Given the description of an element on the screen output the (x, y) to click on. 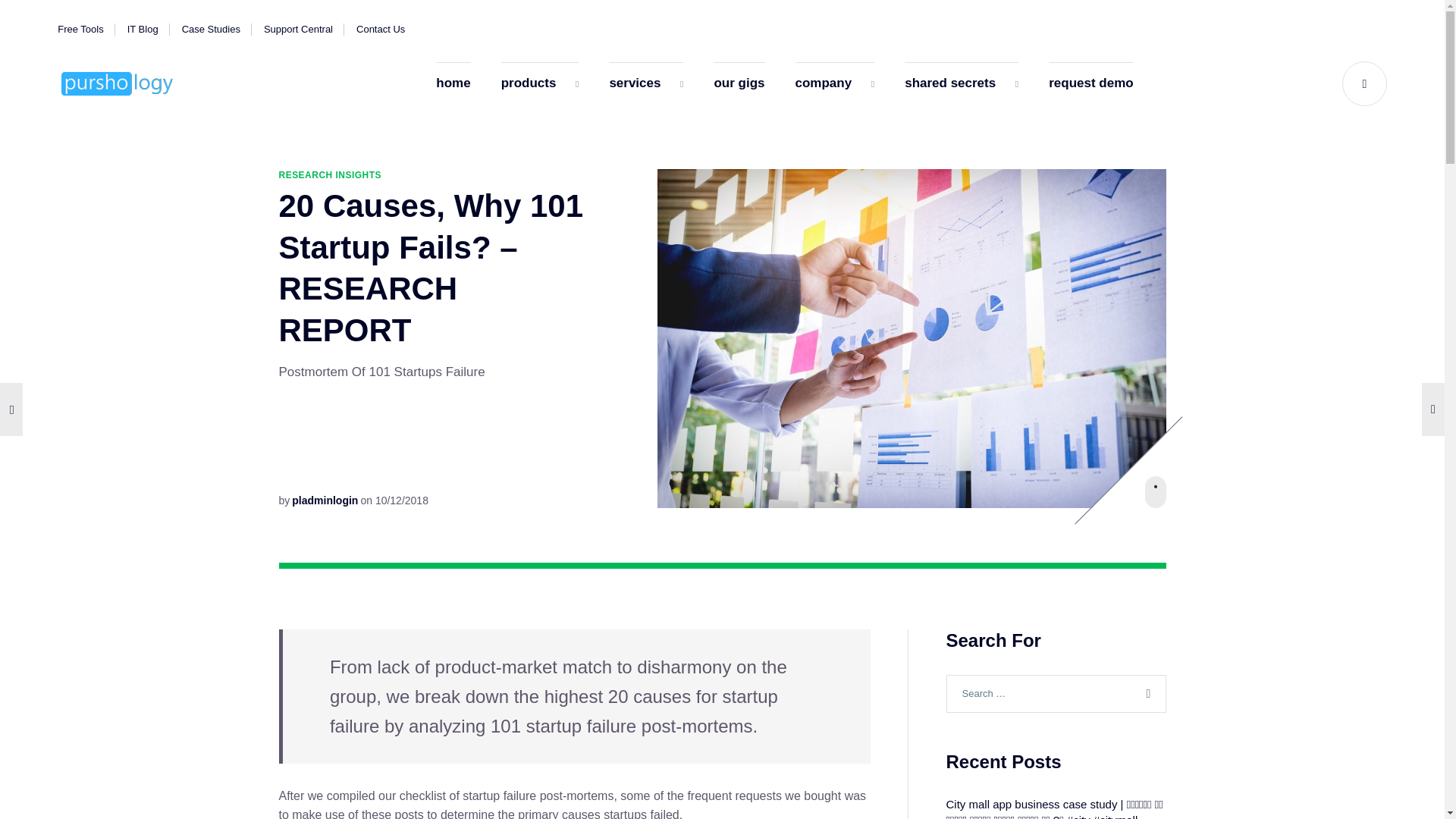
Case Studies (211, 29)
Support Central (298, 29)
products (539, 84)
Posts by pladminlogin (325, 500)
